Given the description of an element on the screen output the (x, y) to click on. 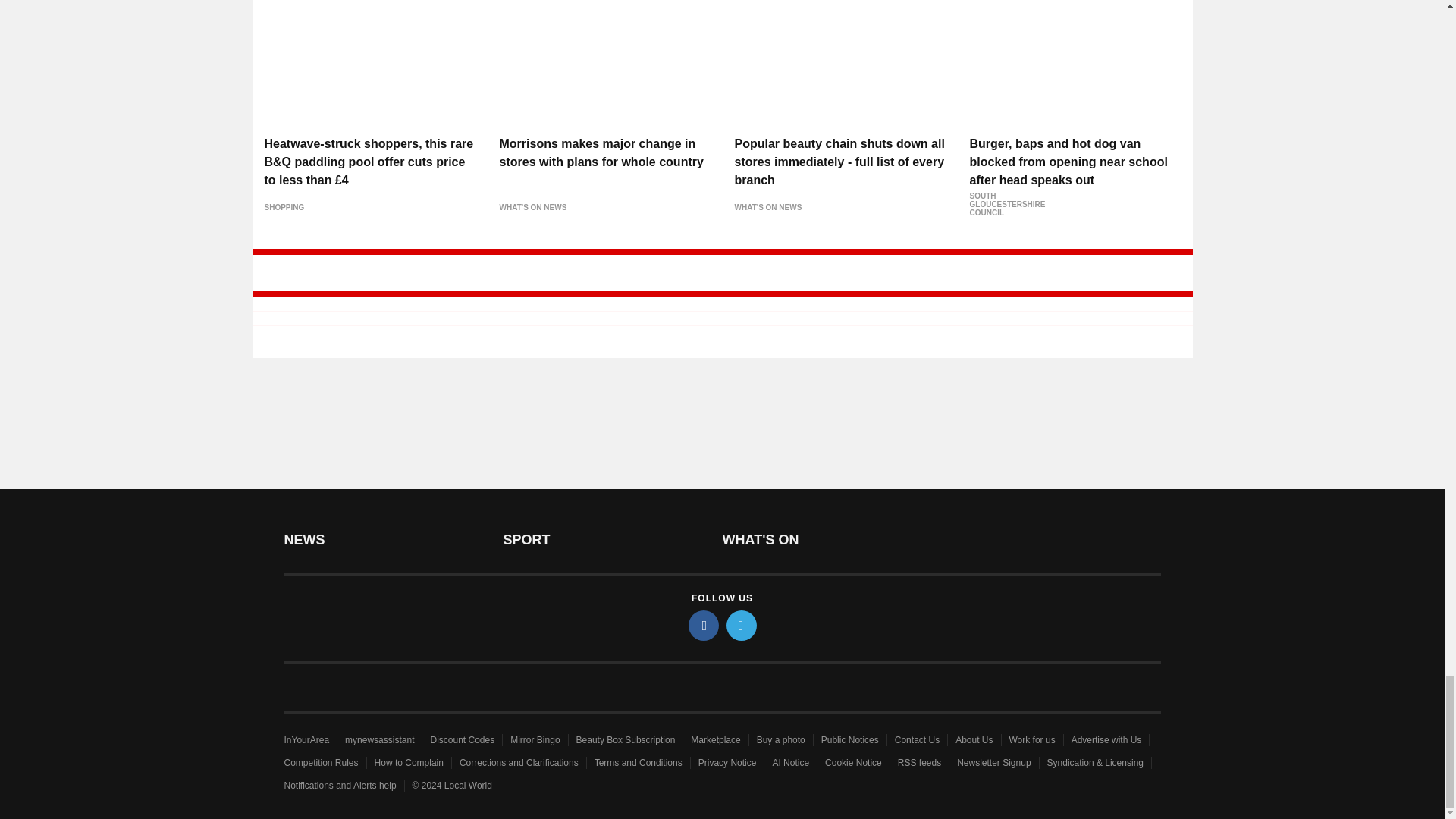
twitter (741, 625)
facebook (703, 625)
